Given the description of an element on the screen output the (x, y) to click on. 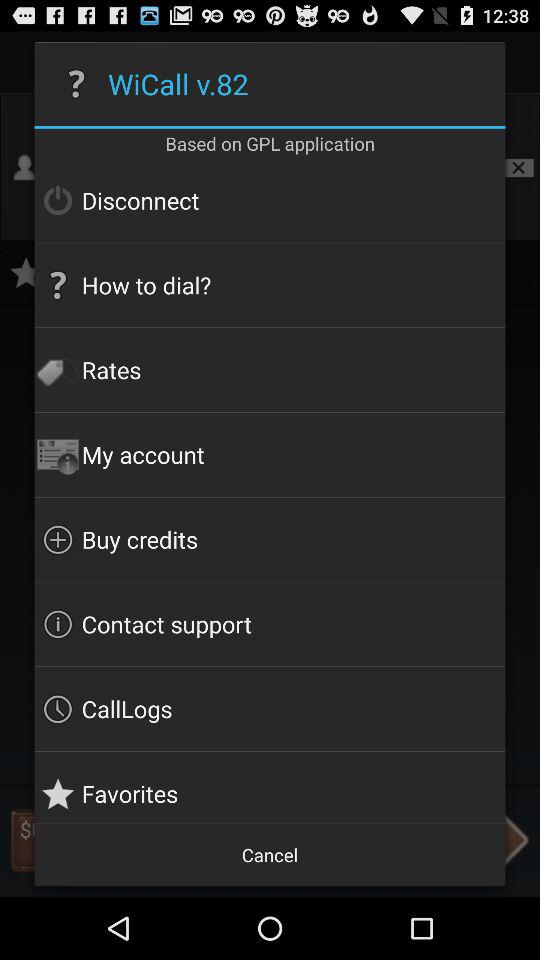
click the icon above buy credits item (269, 454)
